Given the description of an element on the screen output the (x, y) to click on. 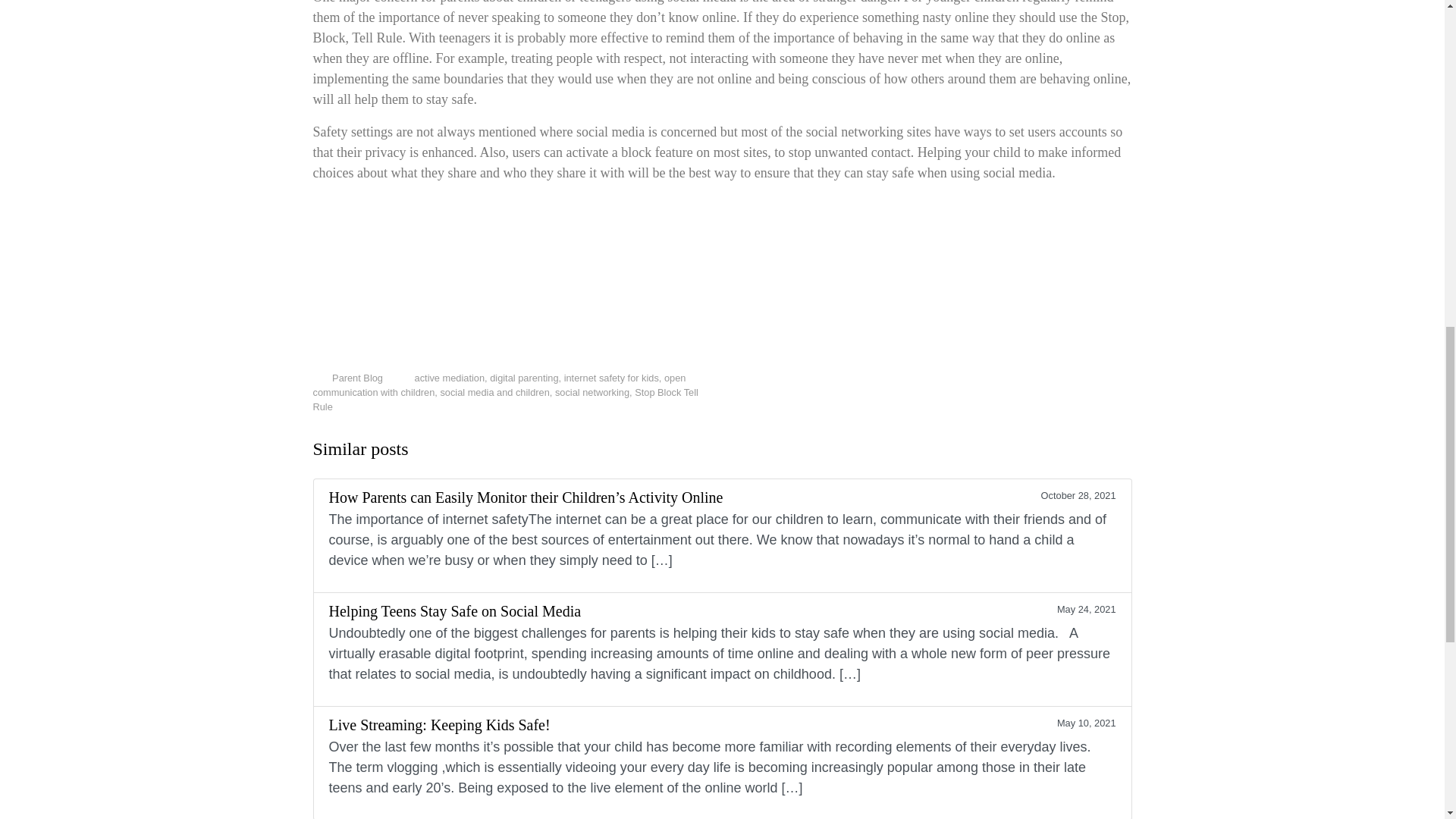
Permanent Link to Helping Teens Stay Safe on Social Media (722, 649)
Share on Pinterest (1080, 382)
Share on Facebook (1058, 382)
Permanent Link to Live Streaming: Keeping Kids Safe! (722, 762)
Share on Twitter (1035, 382)
Share by Email (1103, 382)
